Given the description of an element on the screen output the (x, y) to click on. 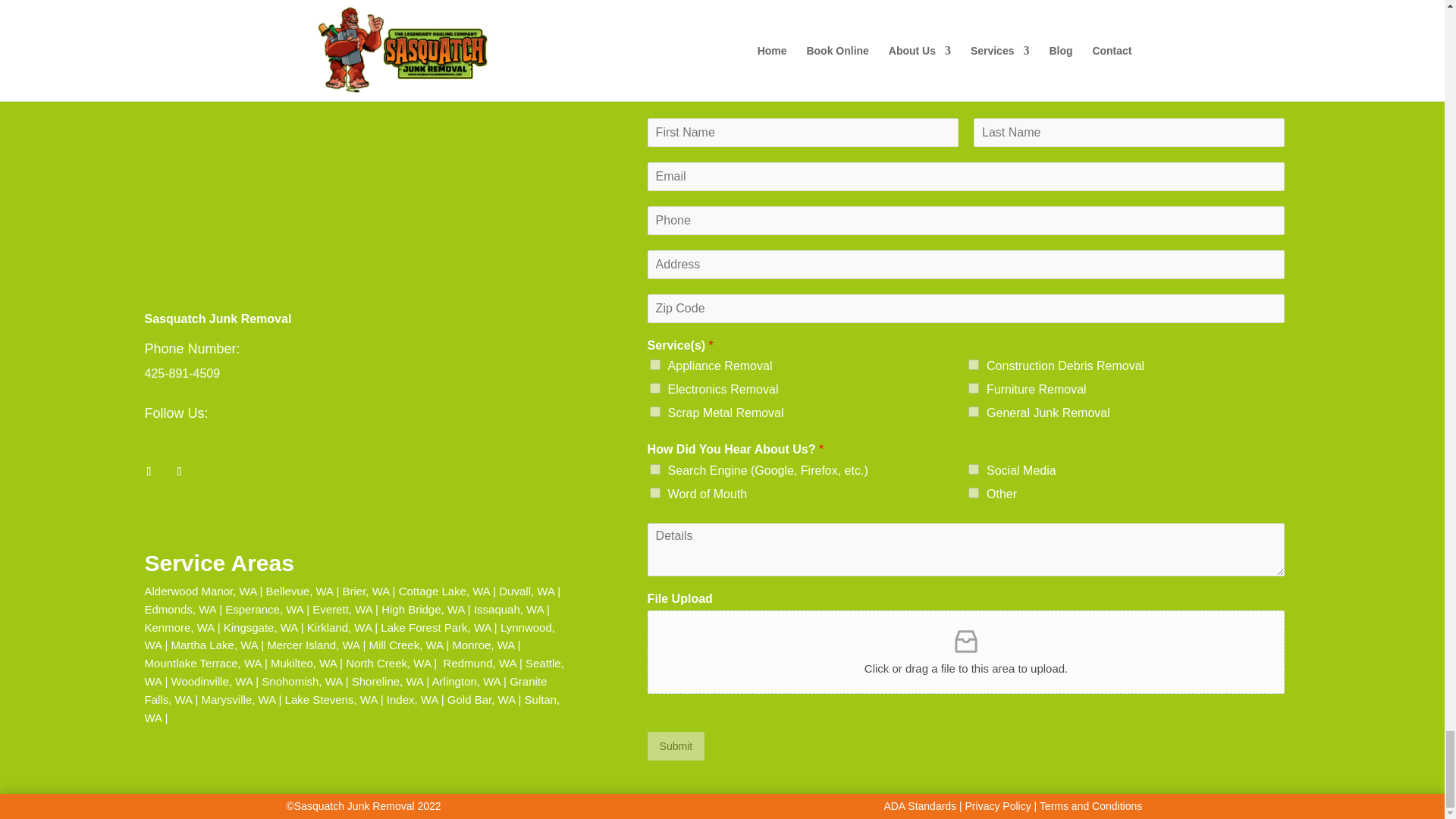
General Junk Removal (973, 411)
Alderwood Manor, WA (200, 590)
Word of Mouth (655, 492)
Cottage Lake, WA (443, 590)
Construction Debris Removal (973, 364)
Bellevue, WA (299, 590)
Appliance Removal (655, 364)
Other (973, 492)
Brier, WA (365, 590)
Electronics Removal (655, 388)
Social Media (973, 469)
Furniture Removal (973, 388)
Scrap Metal Removal (655, 411)
